Given the description of an element on the screen output the (x, y) to click on. 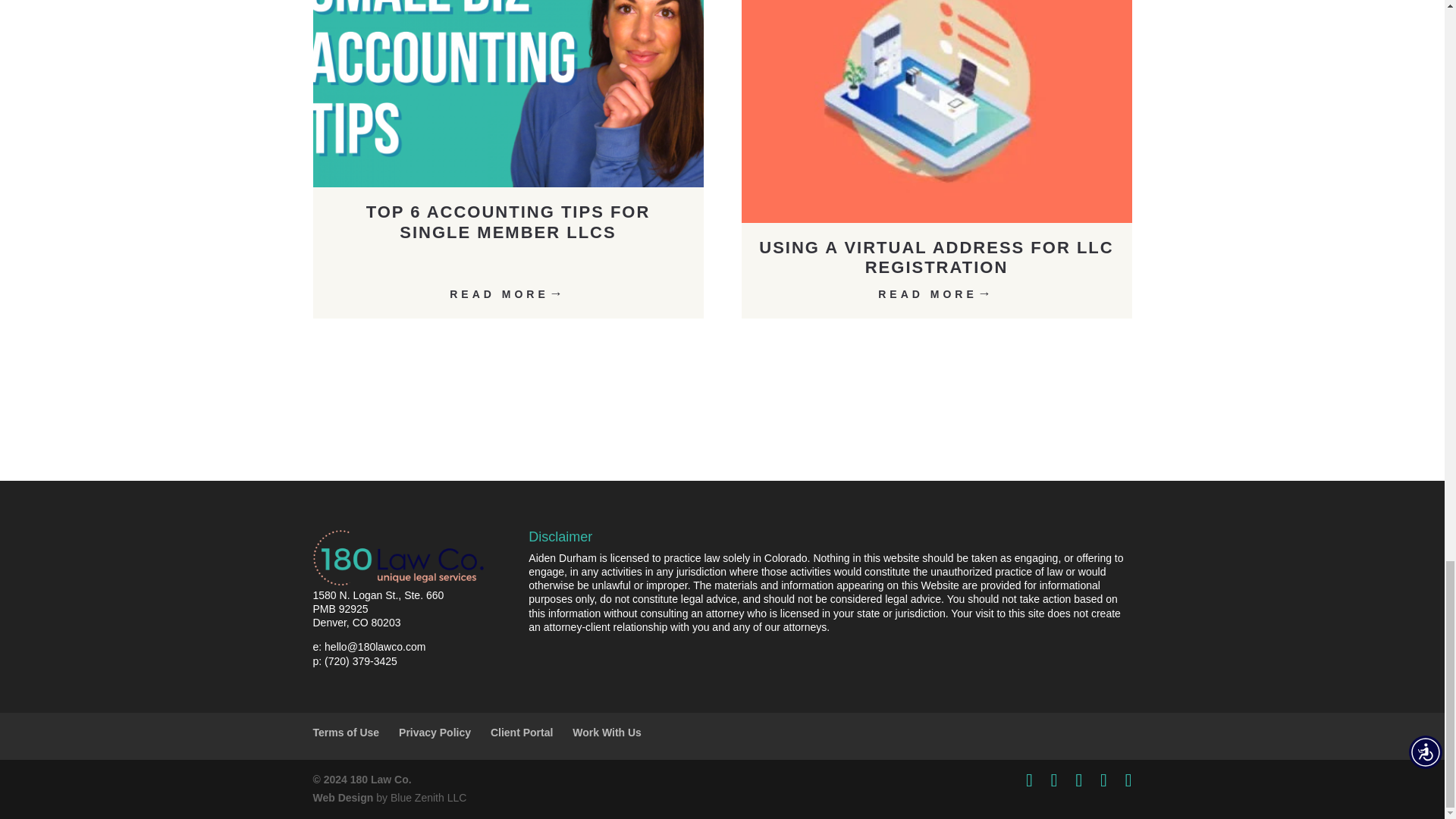
Custom Branding and Web Design, Denver, Centennial, Colorado (342, 797)
